Given the description of an element on the screen output the (x, y) to click on. 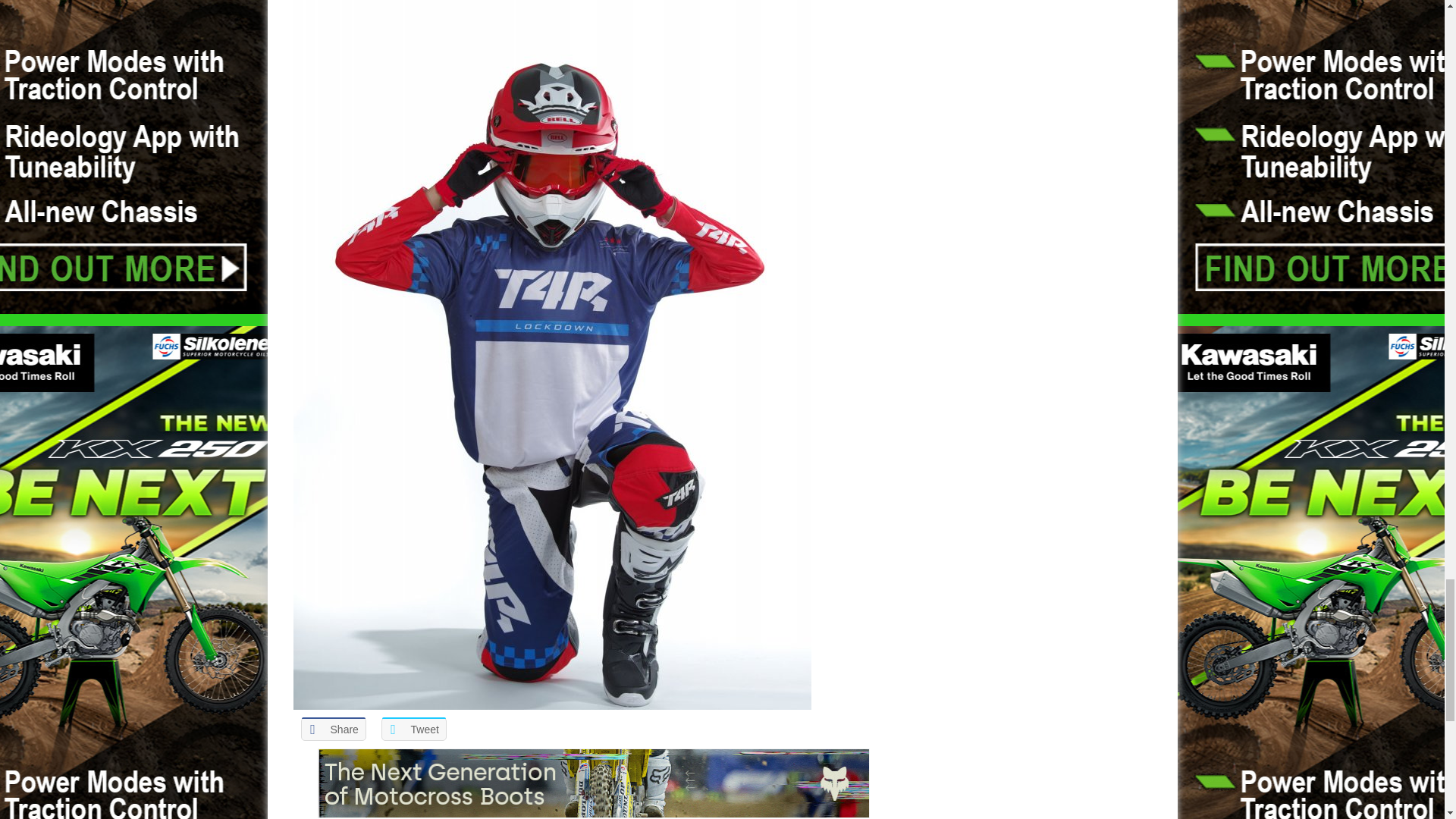
Share on Facebook (332, 729)
Share (332, 729)
Tweet (412, 729)
Share on Twitter (412, 729)
